Given the description of an element on the screen output the (x, y) to click on. 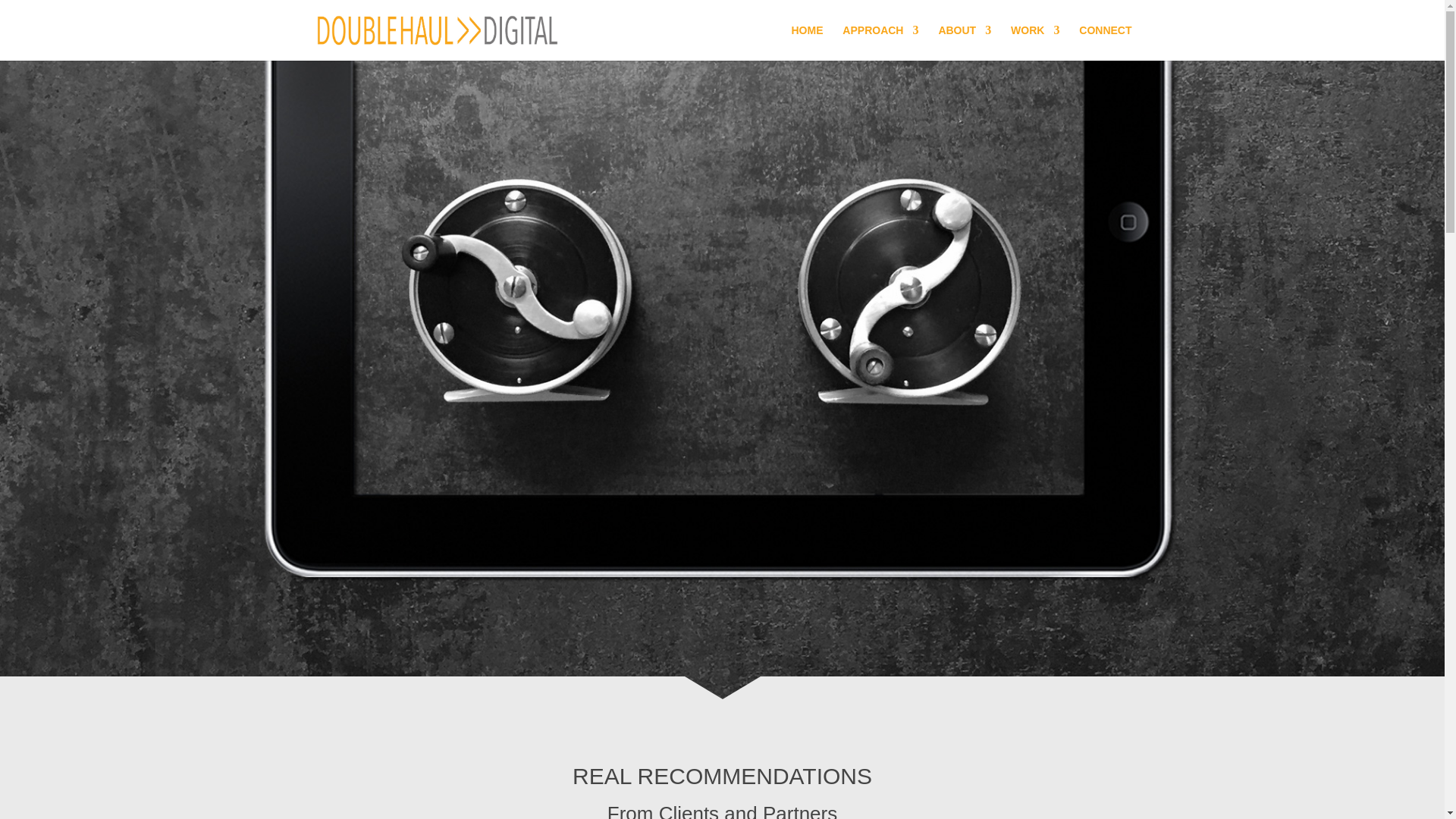
CONNECT (1104, 42)
WORK (1034, 42)
ABOUT (964, 42)
APPROACH (880, 42)
HOME (806, 42)
